Given the description of an element on the screen output the (x, y) to click on. 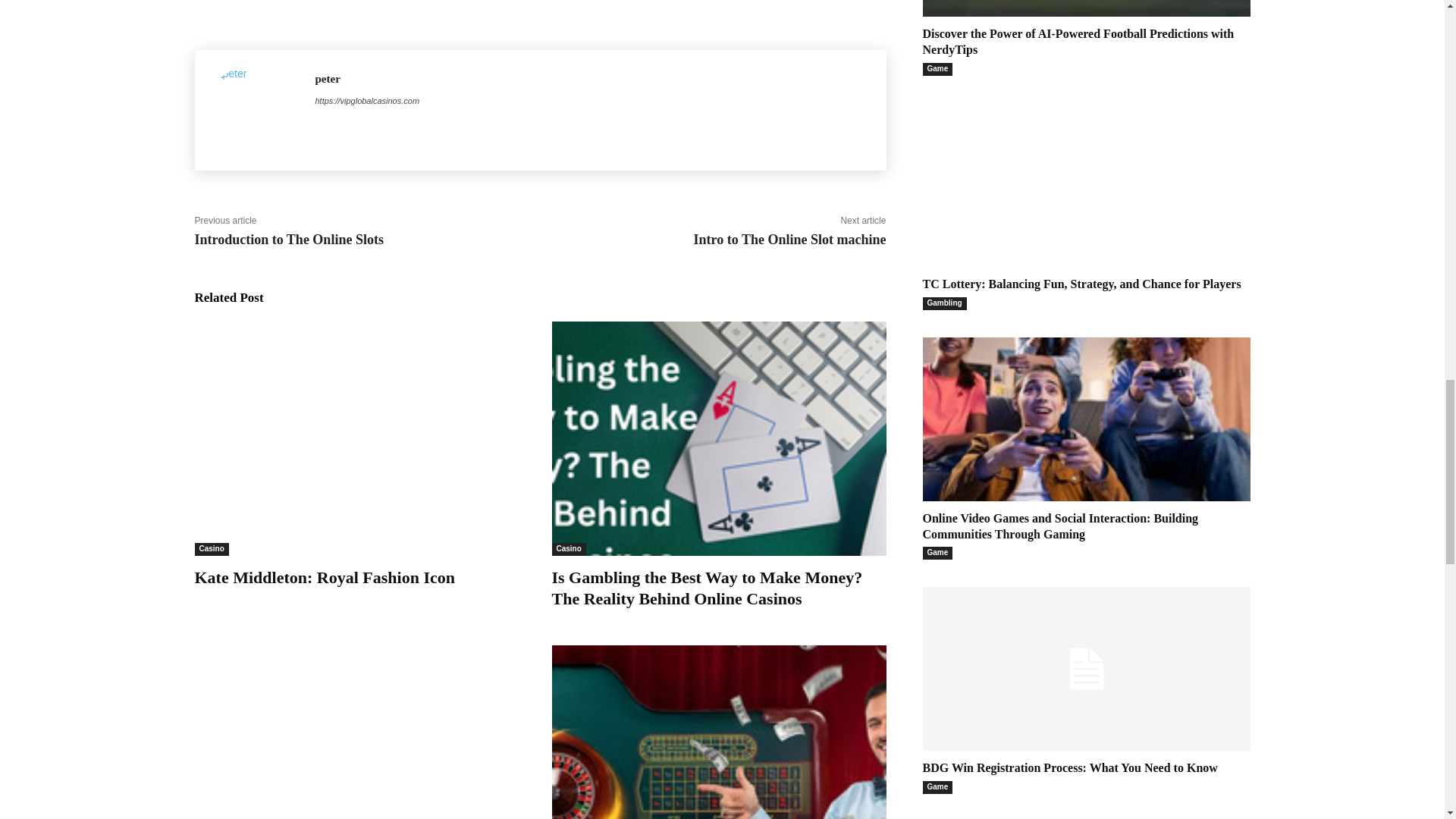
peter (255, 110)
Kate Middleton: Royal Fashion Icon (360, 438)
Kate Middleton: Royal Fashion Icon (323, 577)
